Given the description of an element on the screen output the (x, y) to click on. 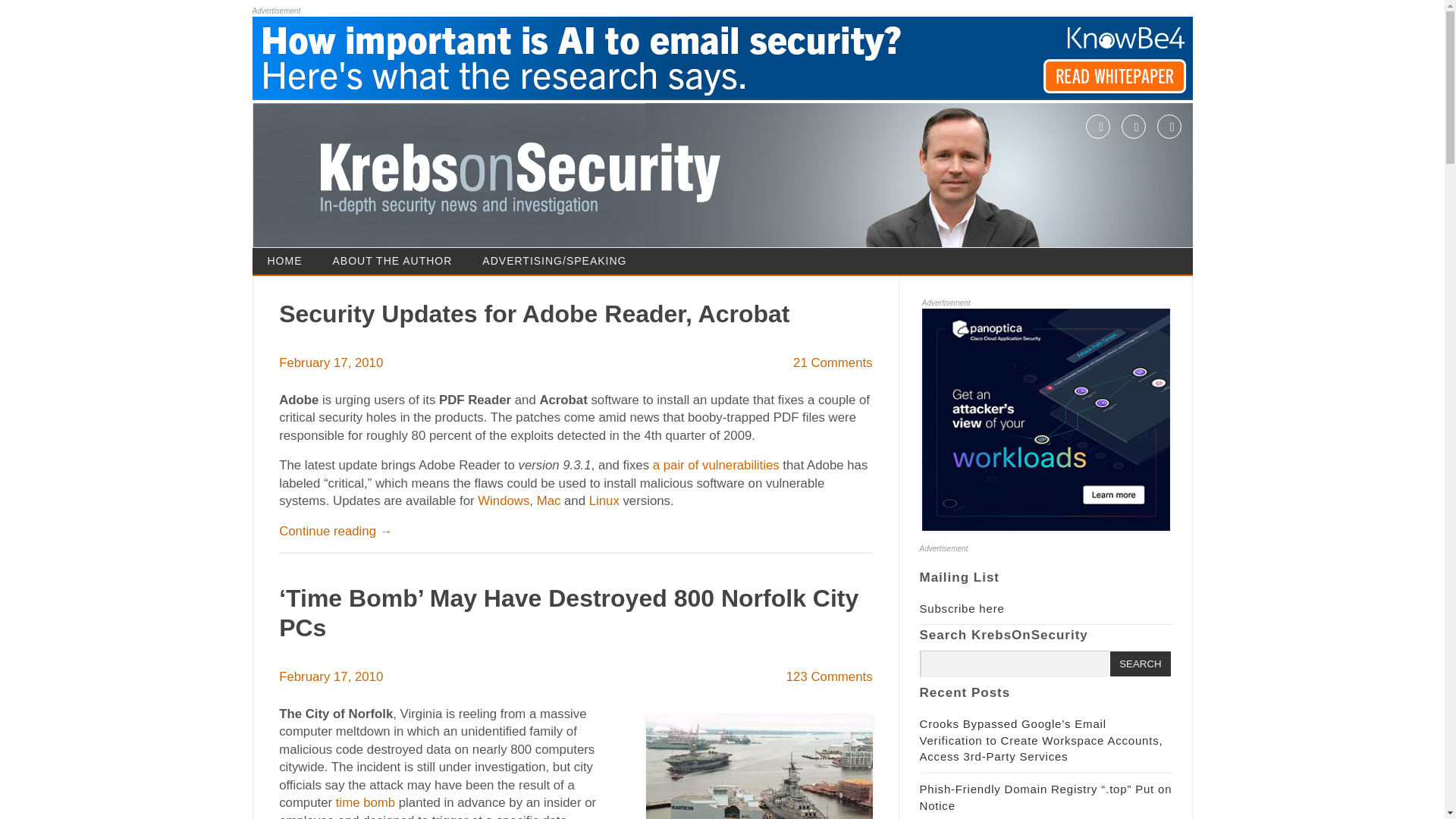
Skip to content (764, 253)
Security Updates for Adobe Reader, Acrobat (534, 313)
Search (1139, 663)
Permalink to Security Updates for Adobe Reader, Acrobat (534, 313)
norfolk (759, 766)
a pair of vulnerabilities (715, 464)
Mac (548, 500)
ABOUT THE AUTHOR (392, 261)
Skip to content (764, 253)
HOME (284, 261)
time bomb (365, 802)
Windows (503, 500)
Linux (604, 500)
123 Comments (829, 676)
21 Comments (832, 362)
